Given the description of an element on the screen output the (x, y) to click on. 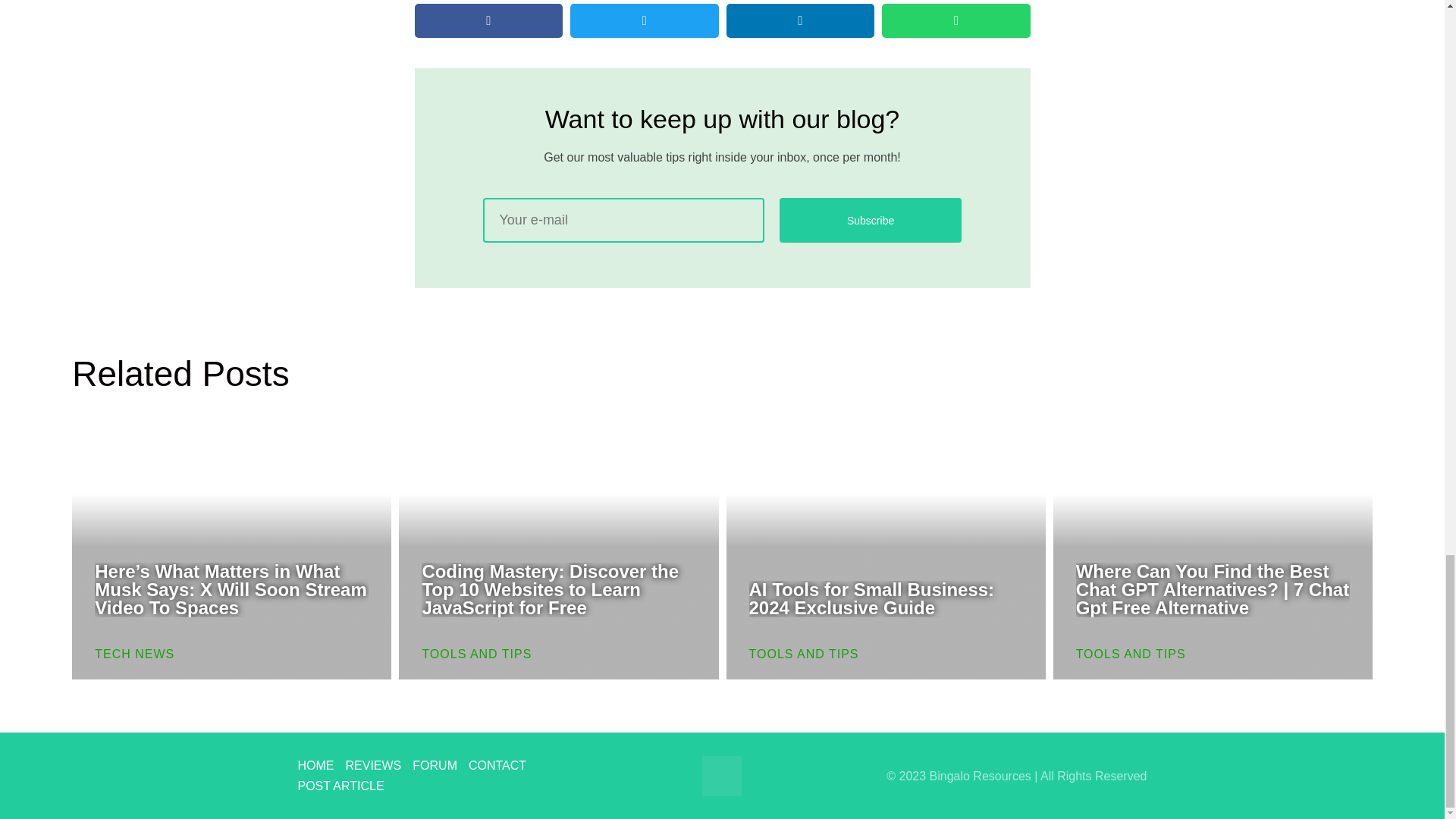
Subscribe (870, 220)
FORUM (440, 765)
CONTACT (502, 765)
AI Tools for Small Business: 2024 Exclusive Guide (871, 598)
HOME (321, 765)
REVIEWS (379, 765)
POST ARTICLE (345, 785)
